Given the description of an element on the screen output the (x, y) to click on. 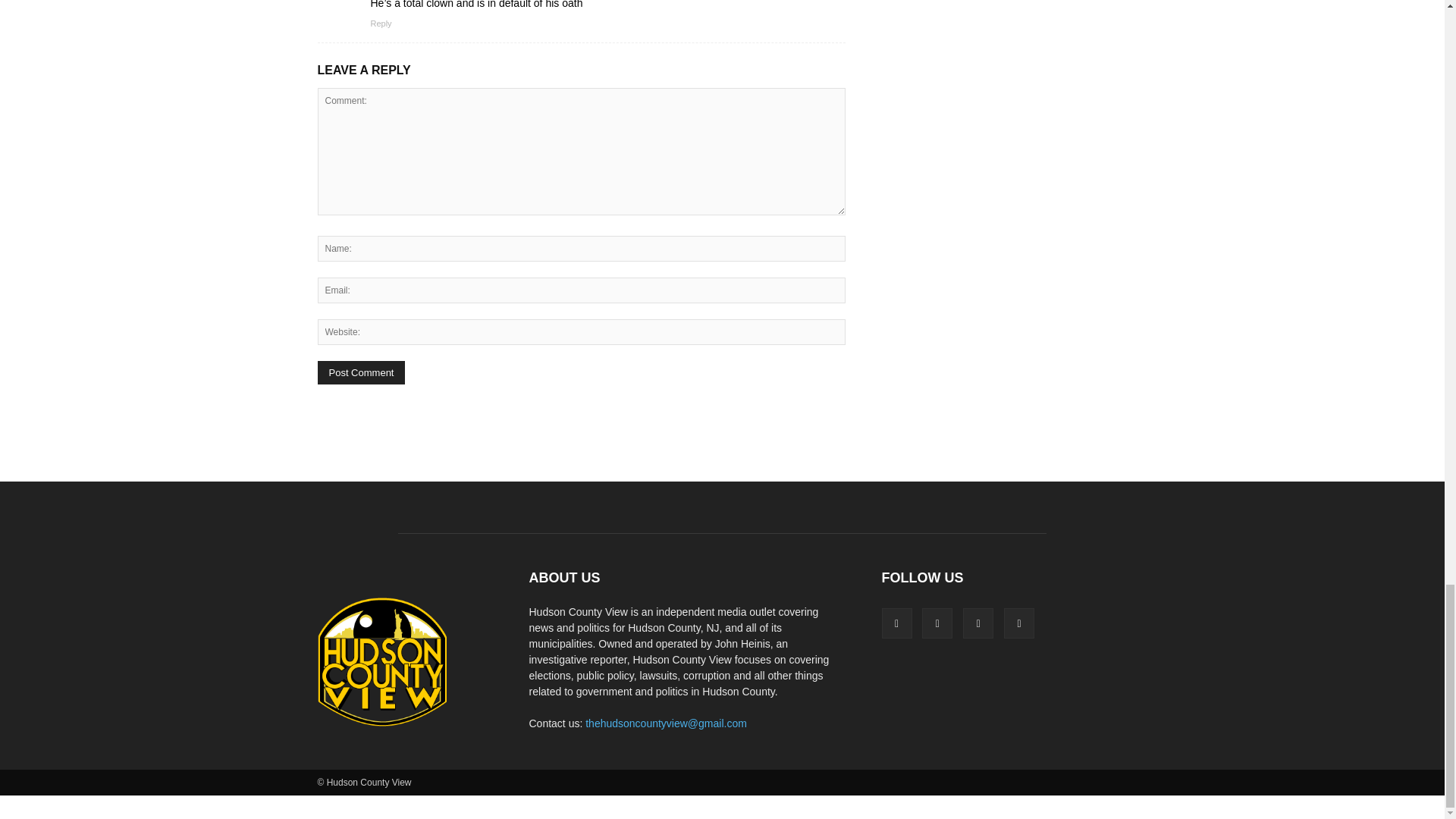
Post Comment (360, 372)
